Given the description of an element on the screen output the (x, y) to click on. 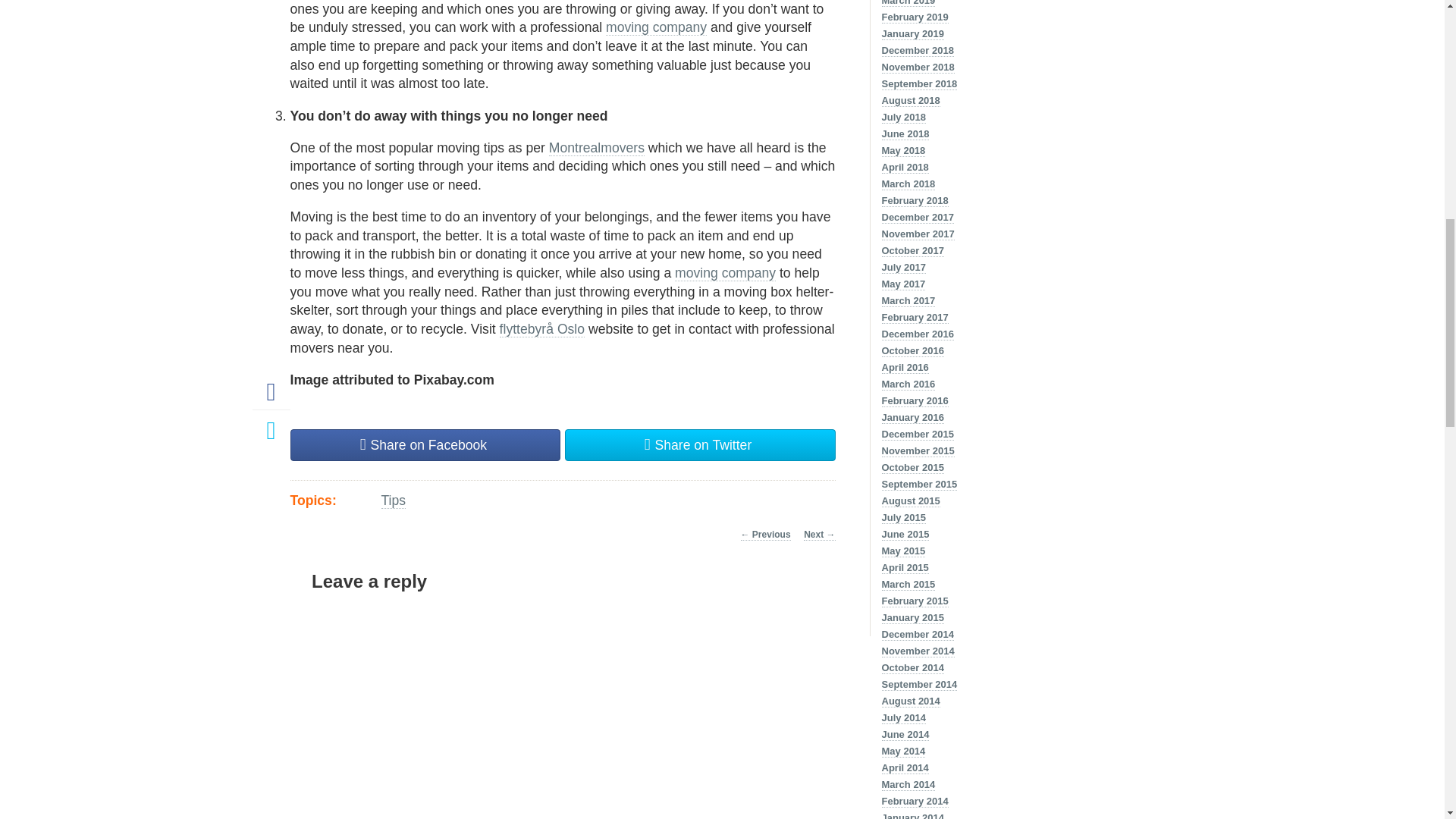
Montrealmovers (596, 148)
moving company (655, 27)
moving company (725, 273)
